Given the description of an element on the screen output the (x, y) to click on. 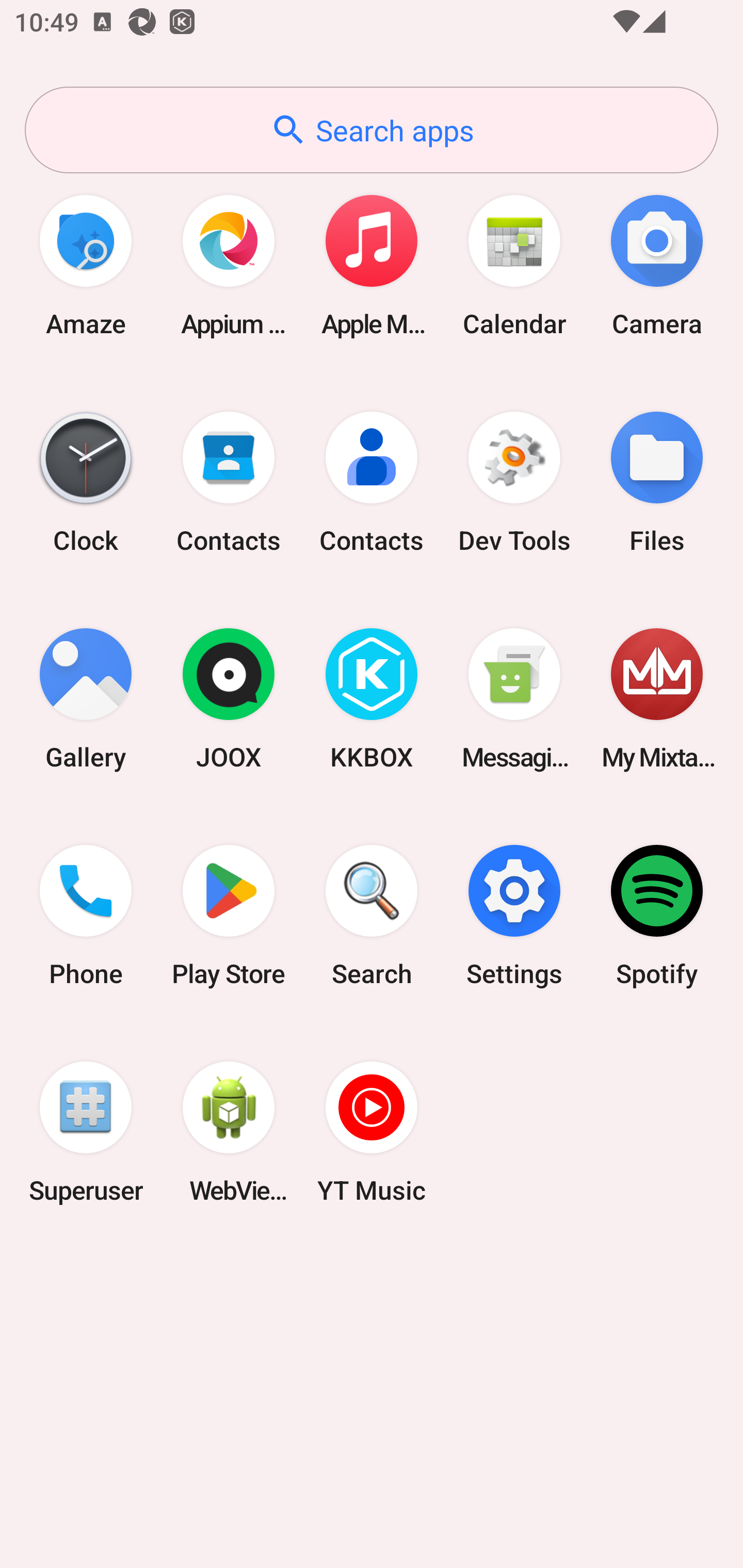
  Search apps (371, 130)
Amaze (85, 264)
Appium Settings (228, 264)
Apple Music (371, 264)
Calendar (514, 264)
Camera (656, 264)
Clock (85, 482)
Contacts (228, 482)
Contacts (371, 482)
Dev Tools (514, 482)
Files (656, 482)
Gallery (85, 699)
JOOX (228, 699)
KKBOX (371, 699)
Messaging (514, 699)
My Mixtapez (656, 699)
Phone (85, 915)
Play Store (228, 915)
Search (371, 915)
Settings (514, 915)
Spotify (656, 915)
Superuser (85, 1131)
WebView Browser Tester (228, 1131)
YT Music (371, 1131)
